Given the description of an element on the screen output the (x, y) to click on. 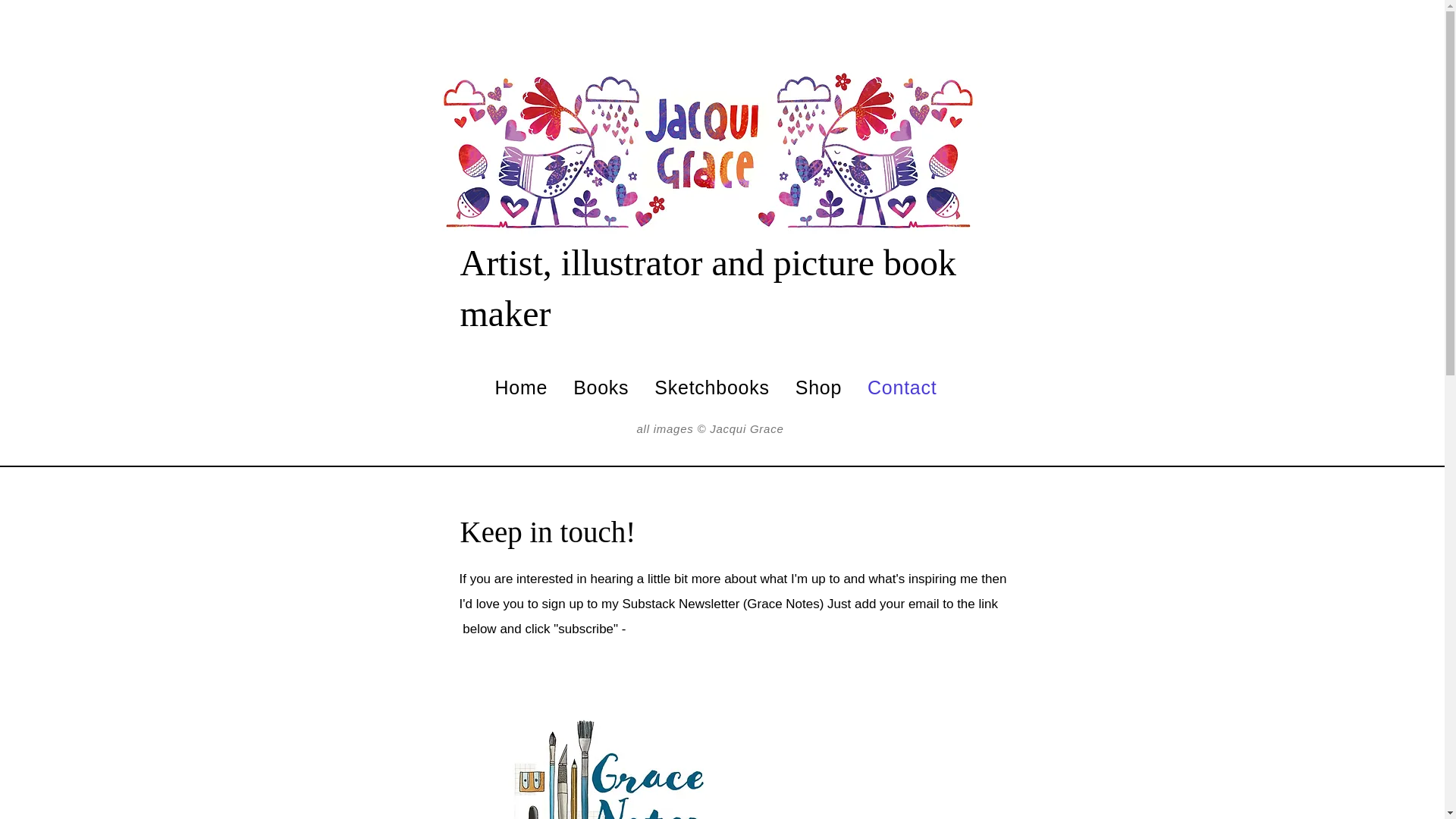
Books (601, 387)
Sketchbooks (711, 387)
Home (520, 387)
Contact (901, 387)
Shop (818, 387)
